Given the description of an element on the screen output the (x, y) to click on. 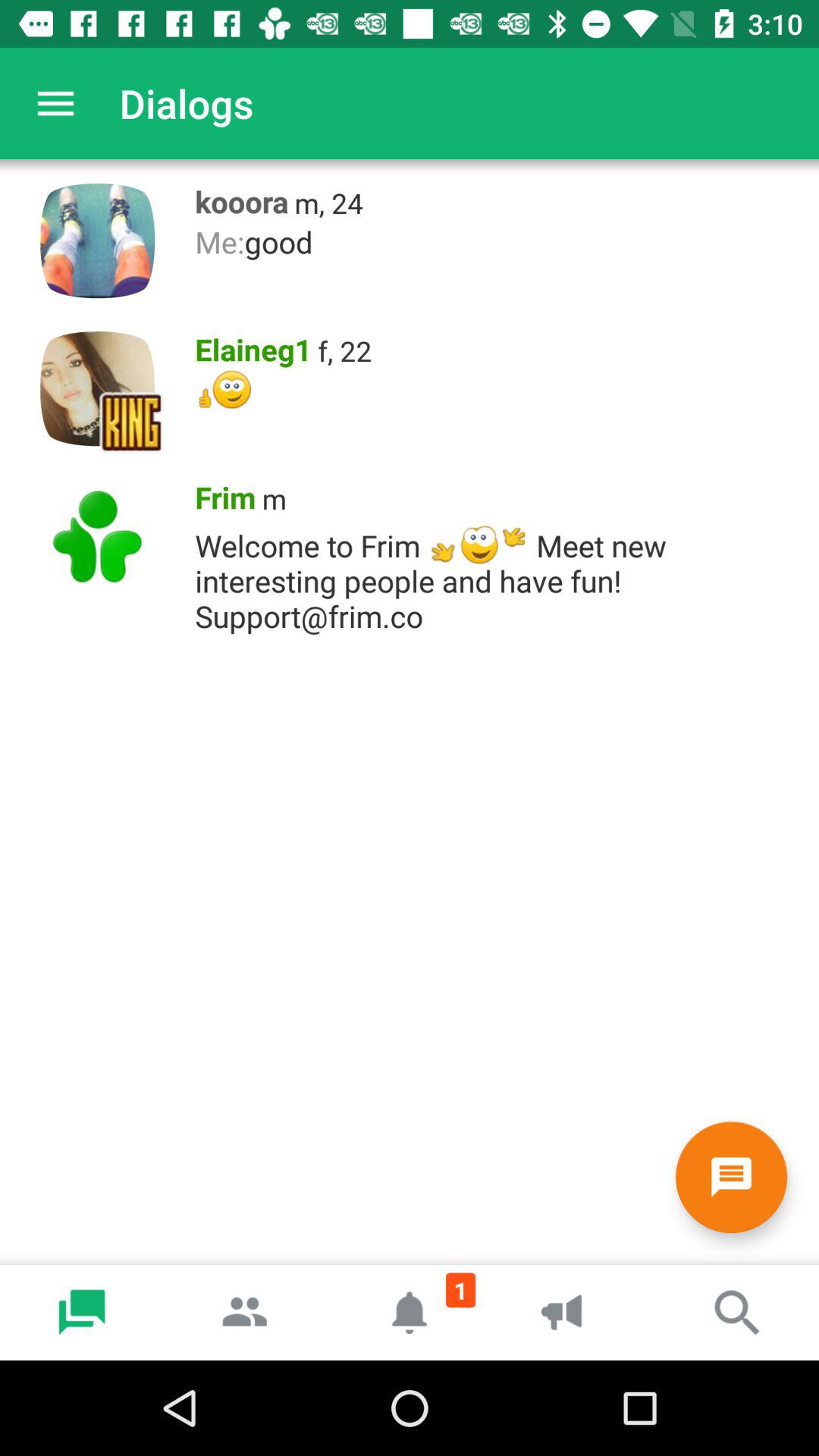
open the item below the elaineg1 item (499, 389)
